Given the description of an element on the screen output the (x, y) to click on. 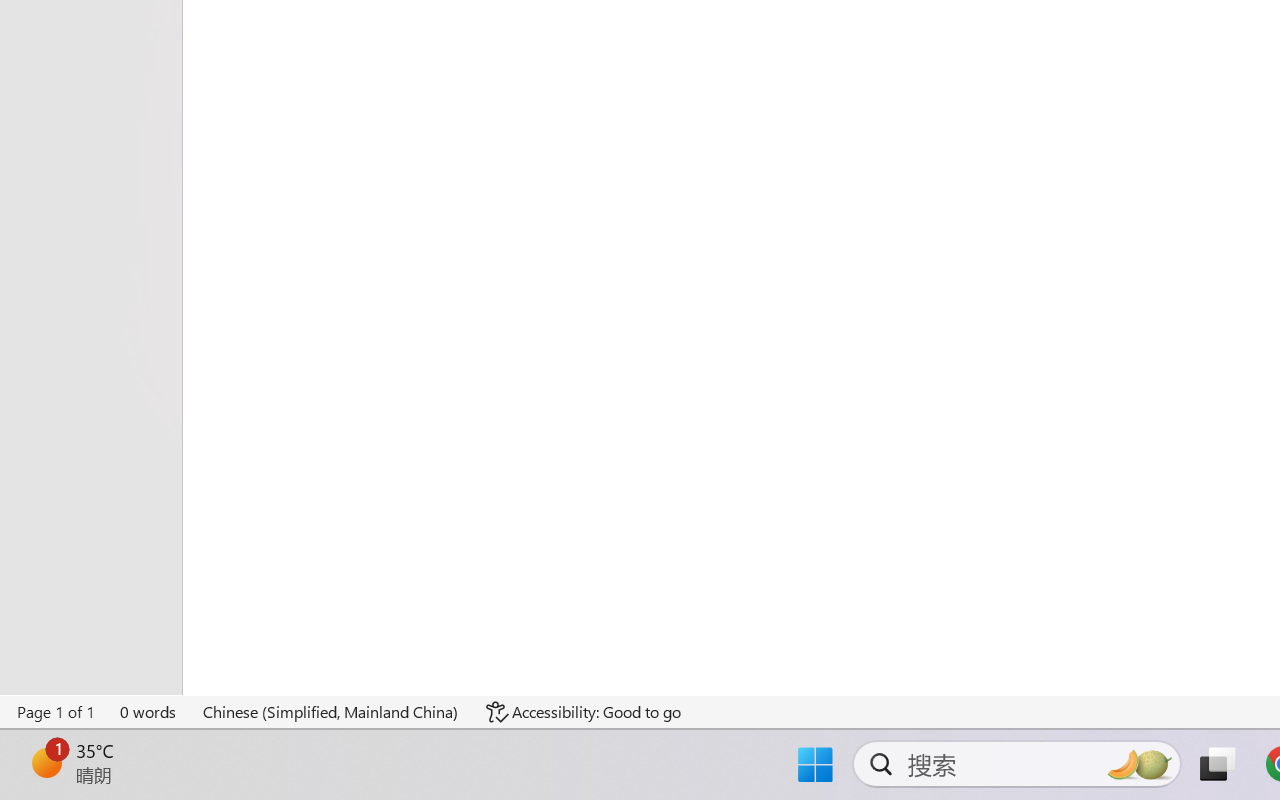
Language Chinese (Simplified, Mainland China) (331, 712)
